Given the description of an element on the screen output the (x, y) to click on. 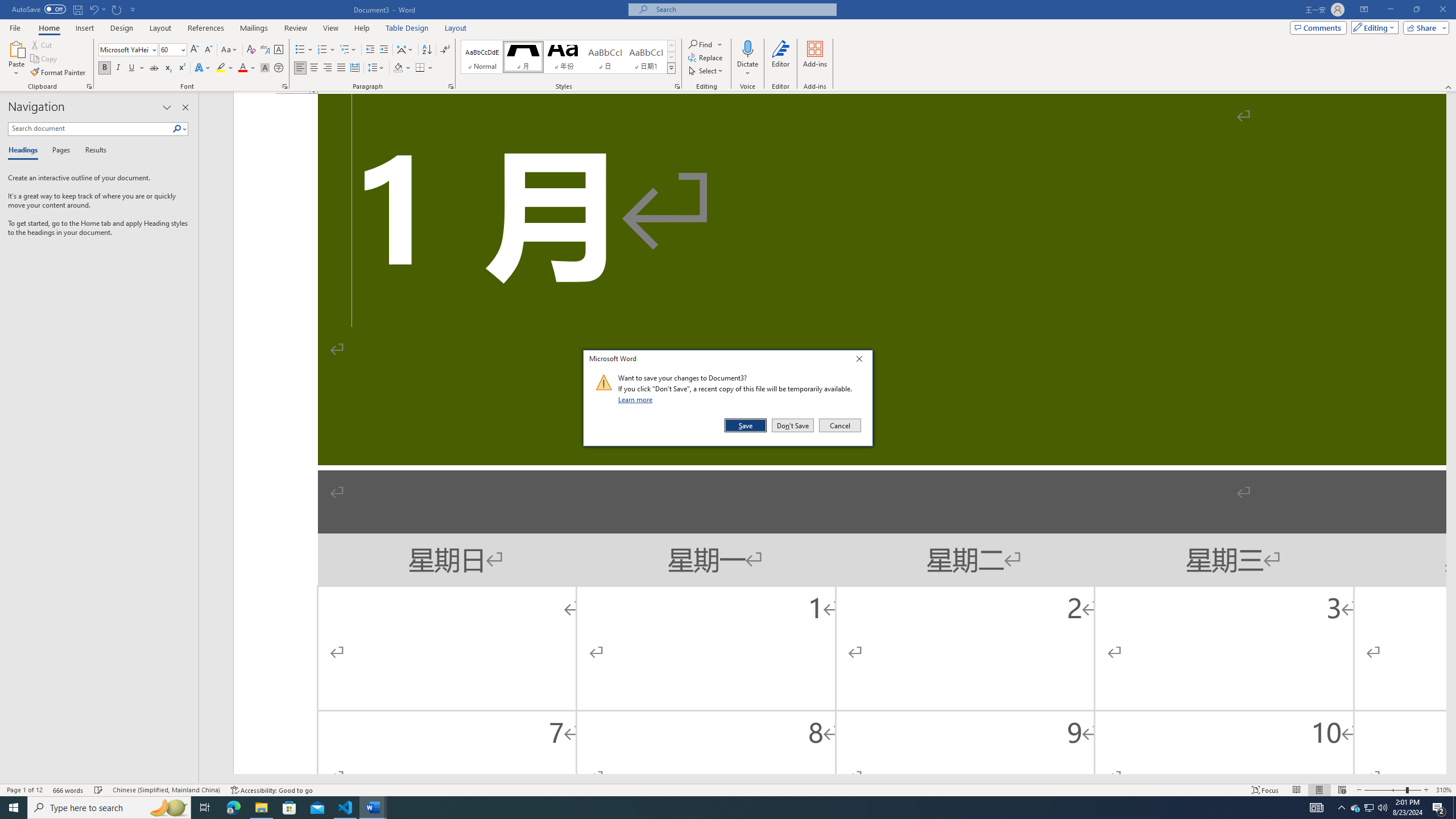
Enclose Characters... (1368, 807)
Copy (1355, 807)
Bold (278, 67)
Phonetic Guide... (45, 58)
